Given the description of an element on the screen output the (x, y) to click on. 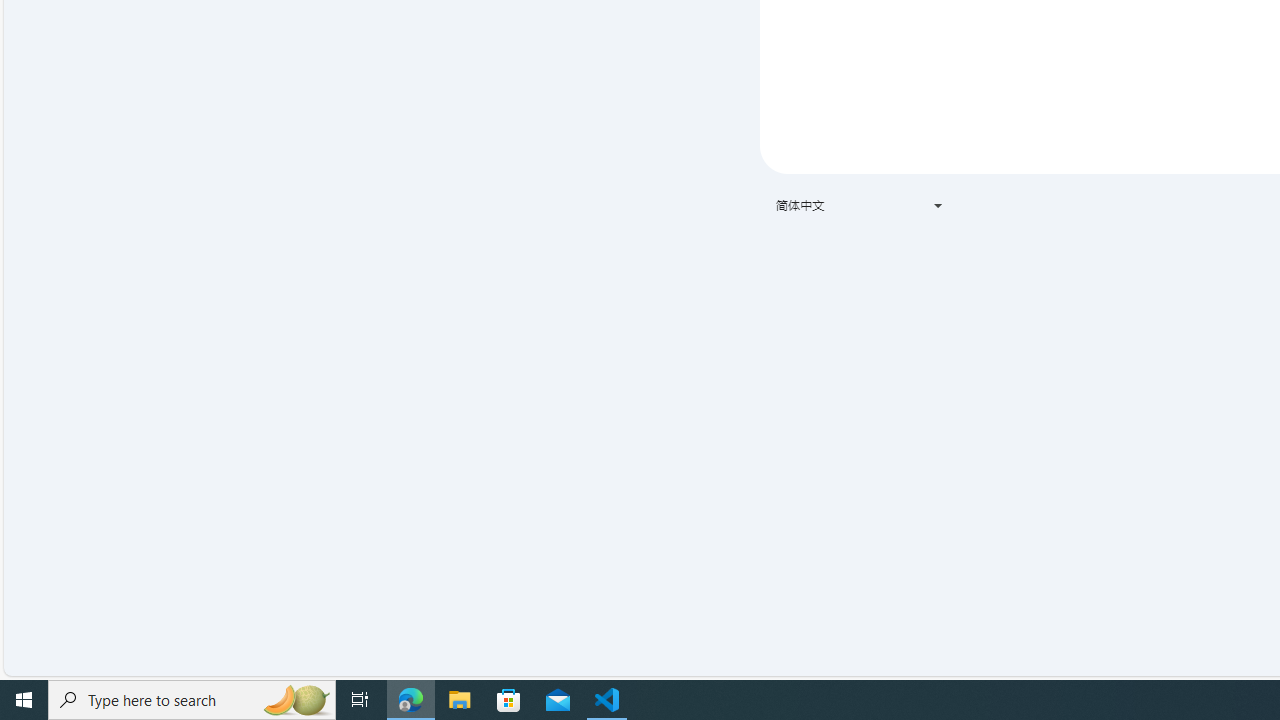
Class: VfPpkd-t08AT-Bz112c-Bd00G (938, 205)
